Given the description of an element on the screen output the (x, y) to click on. 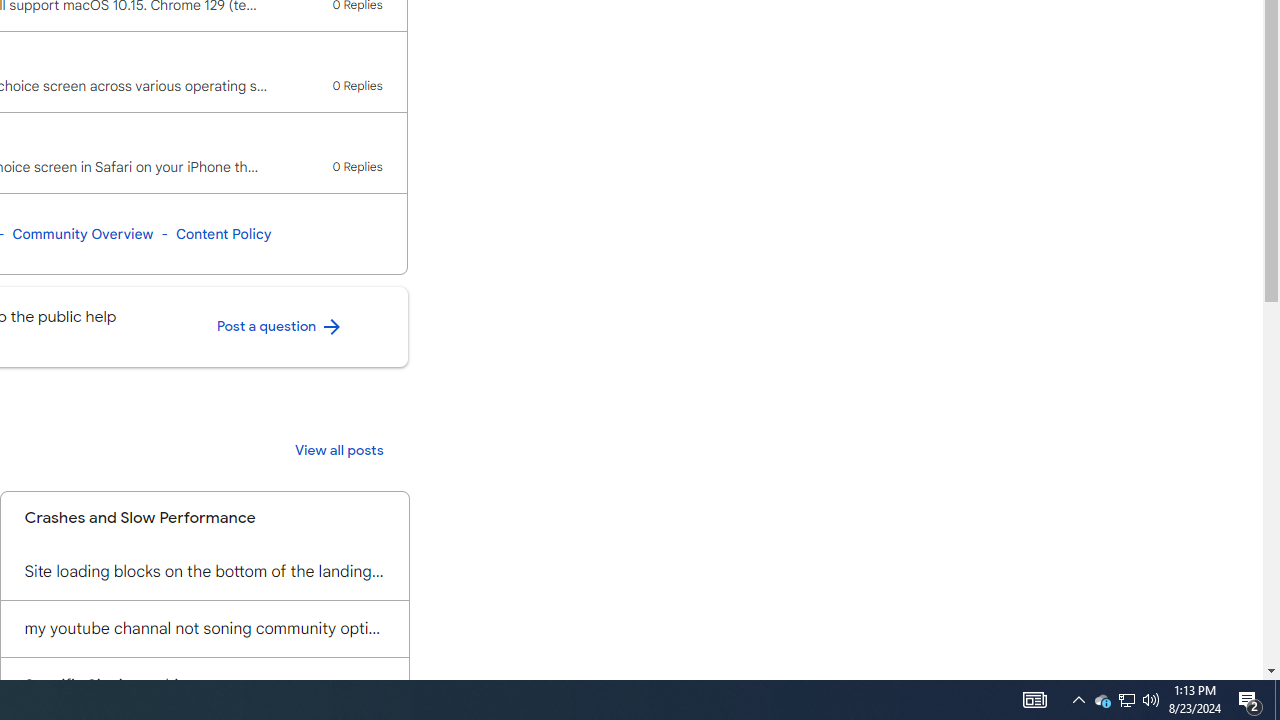
Content Policy (223, 233)
View all posts (339, 450)
Post a question  (280, 327)
Community Overview (82, 233)
